Given the description of an element on the screen output the (x, y) to click on. 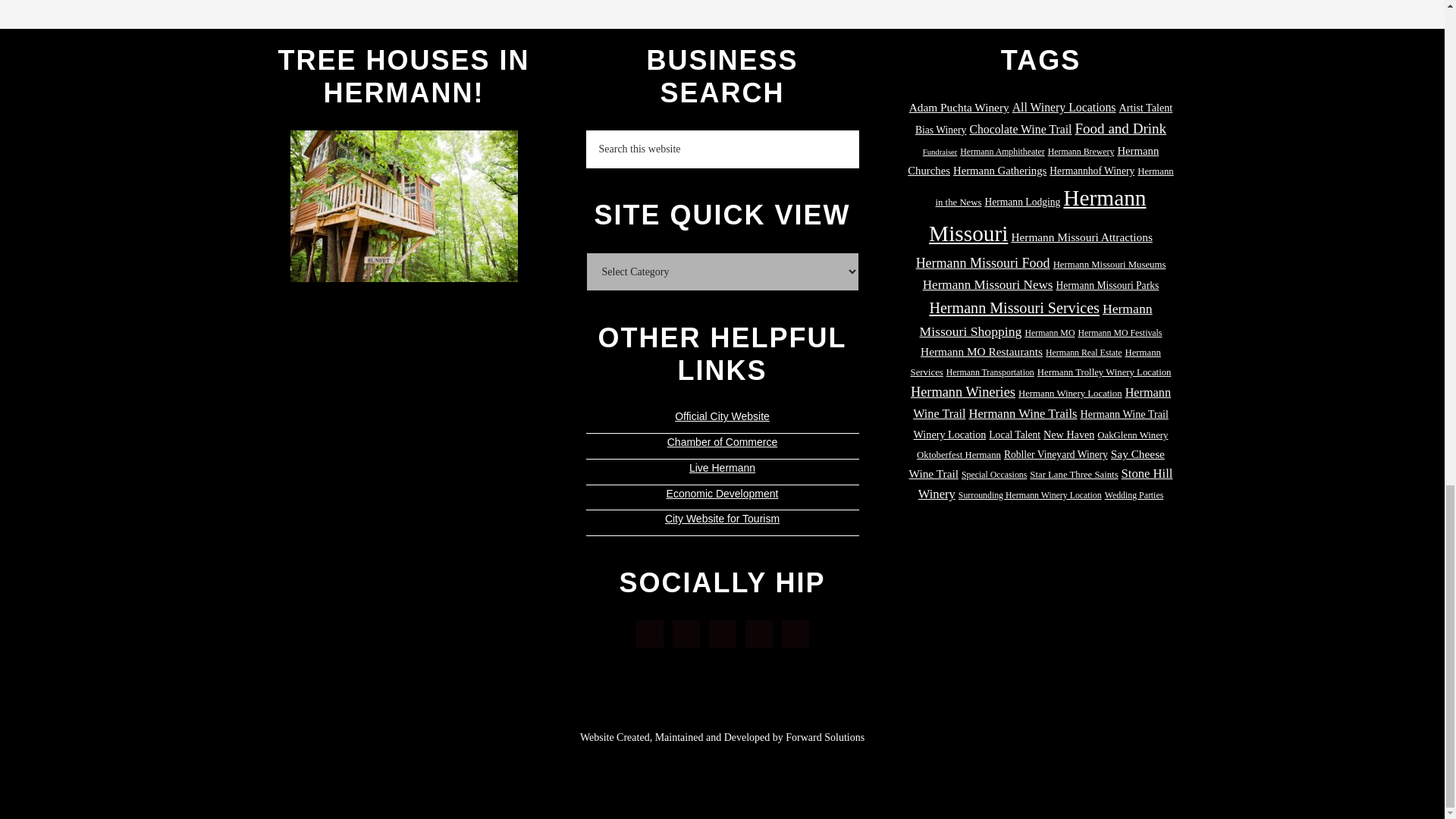
Missouri Web Design (825, 737)
